Given the description of an element on the screen output the (x, y) to click on. 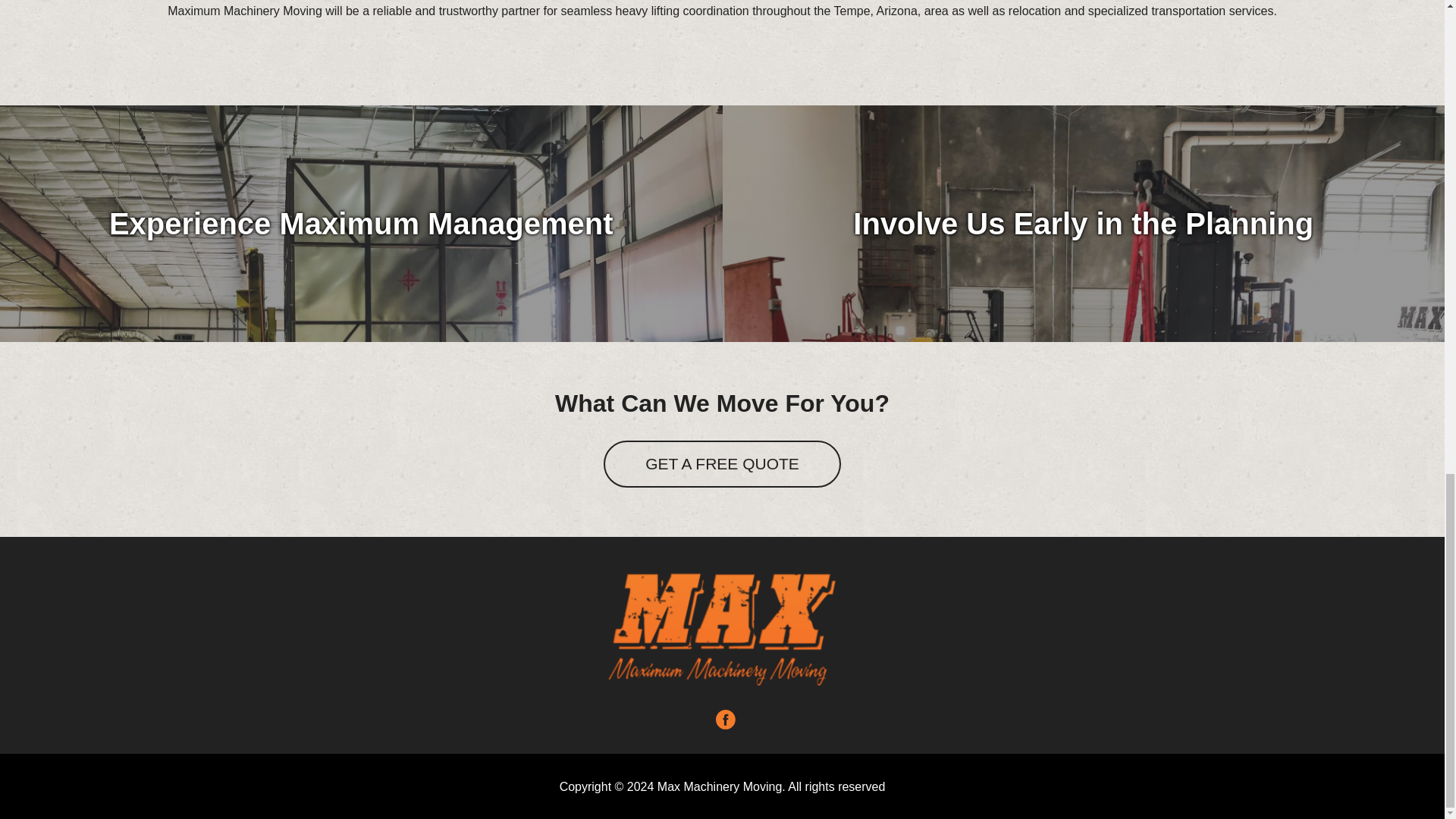
Max Machinery Moving on Facebook (725, 719)
GET A FREE QUOTE (721, 463)
Contact Max Machinery Moving (721, 463)
Max Machinery Moving Orange Logo (721, 629)
